Given the description of an element on the screen output the (x, y) to click on. 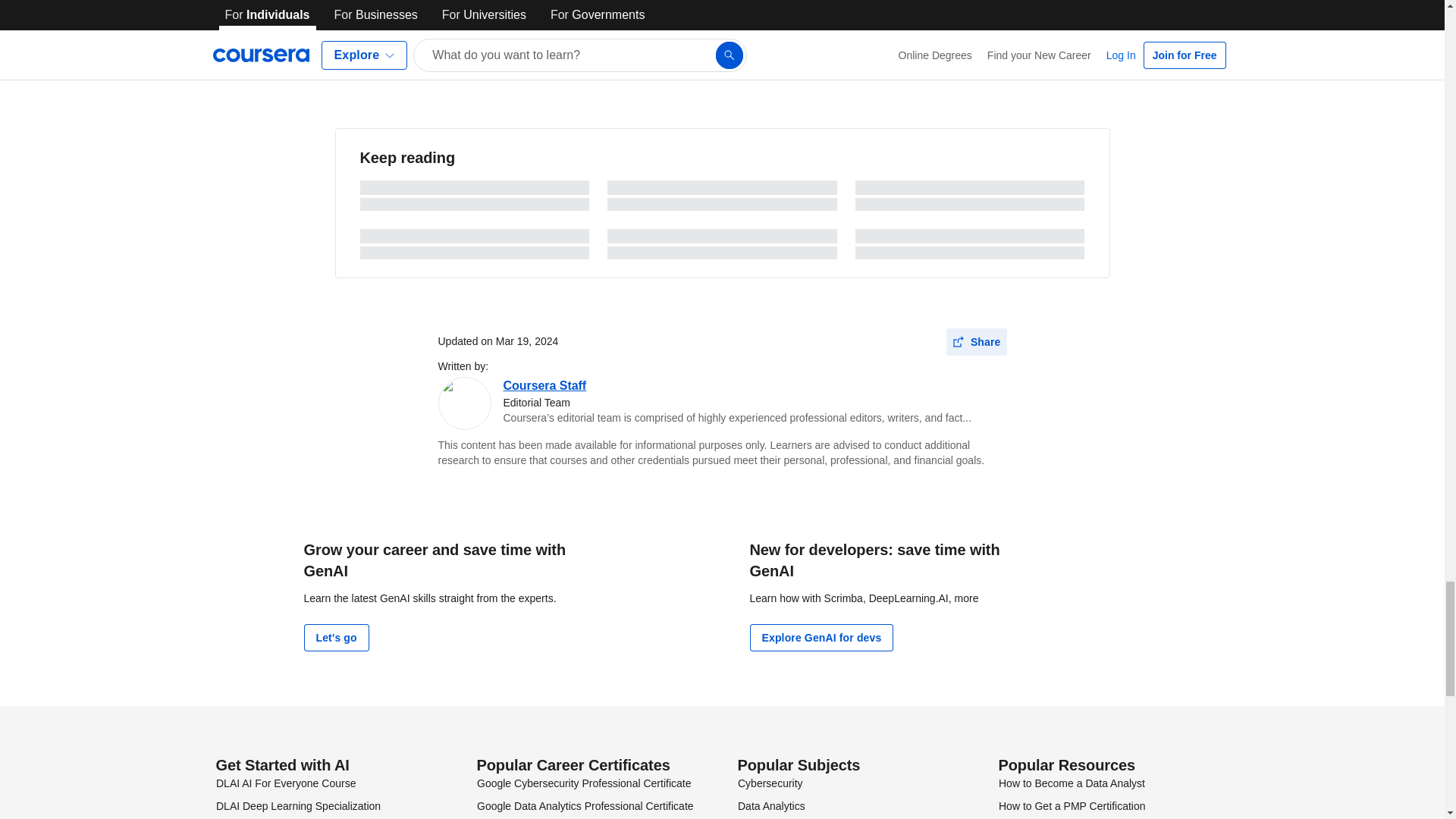
DLAI Deep Learning Specialization (297, 806)
Share (976, 341)
Learn More (528, 28)
New for developers: save time with GenAI (873, 560)
Explore GenAI for devs (821, 637)
Let's go (335, 637)
Google Cybersecurity Professional Certificate (583, 783)
Grow your career and save time with GenAI (434, 560)
DLAI AI For Everyone Course (285, 783)
Coursera Staff (544, 385)
